Given the description of an element on the screen output the (x, y) to click on. 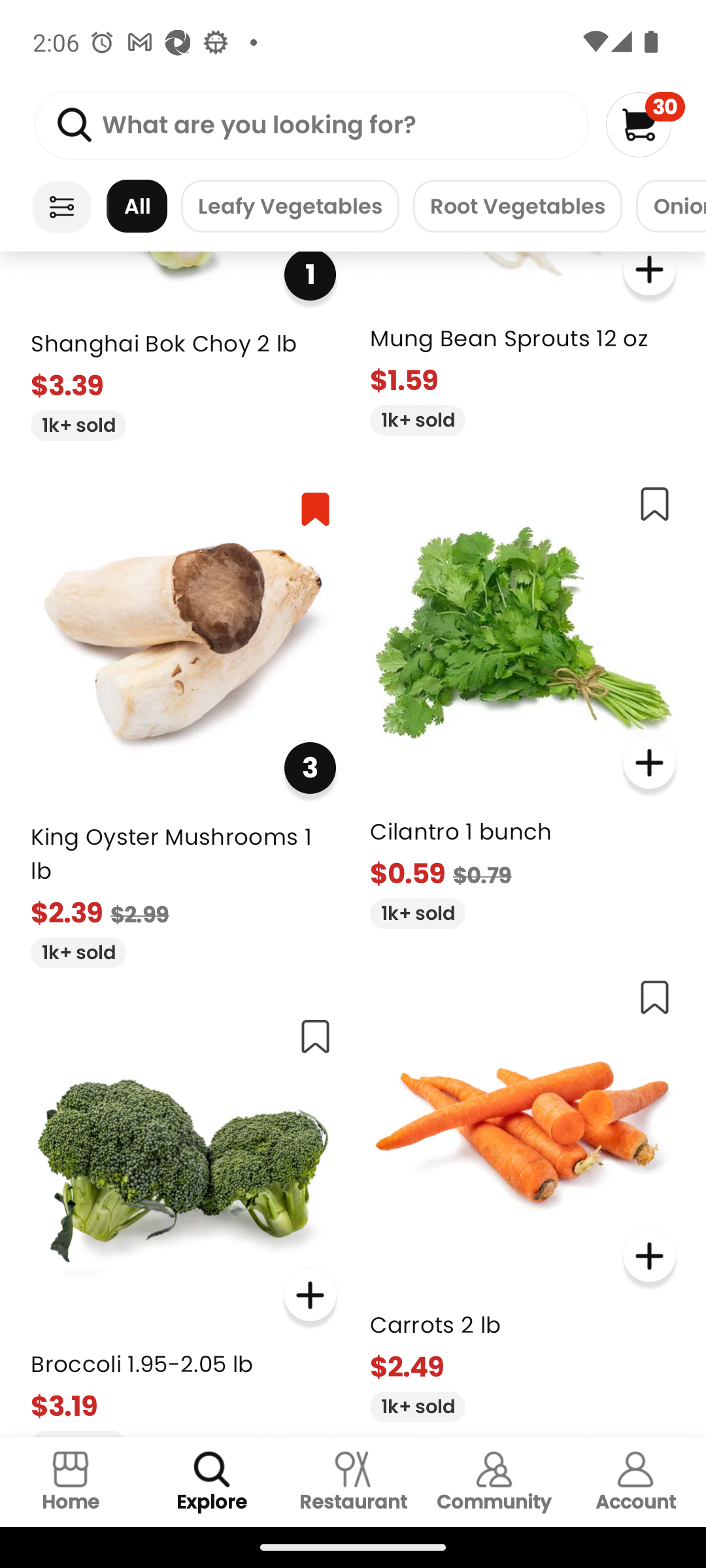
What are you looking for? (311, 124)
30 (644, 124)
All (136, 206)
Leafy Vegetables (289, 206)
Root Vegetables (517, 206)
Onions & Shallots (671, 206)
1 (310, 275)
Cilantro 1 bunch $0.59 $0.79 1k+ sold (522, 699)
3 King Oyster Mushrooms 1 lb $2.39 $2.99 1k+ sold (182, 722)
3 (310, 767)
Carrots 2 lb $2.49 1k+ sold (522, 1192)
Broccoli 1.95-2.05 lb $3.19 1k+ sold (182, 1219)
Home (70, 1482)
Explore (211, 1482)
Restaurant (352, 1482)
Community (493, 1482)
Account (635, 1482)
